Given the description of an element on the screen output the (x, y) to click on. 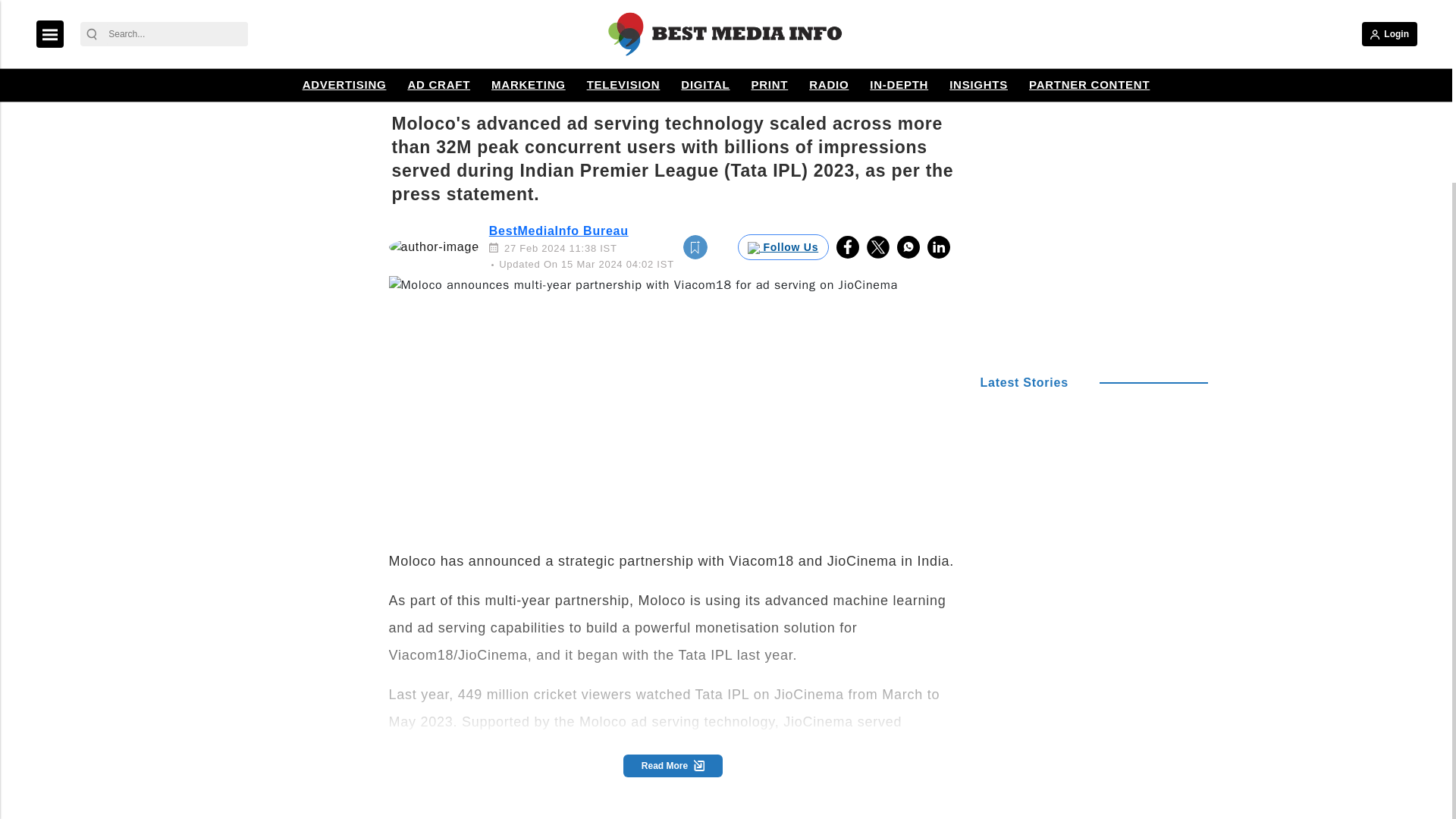
Follow Us (782, 247)
BestMediaInfo Bureau (558, 230)
